Given the description of an element on the screen output the (x, y) to click on. 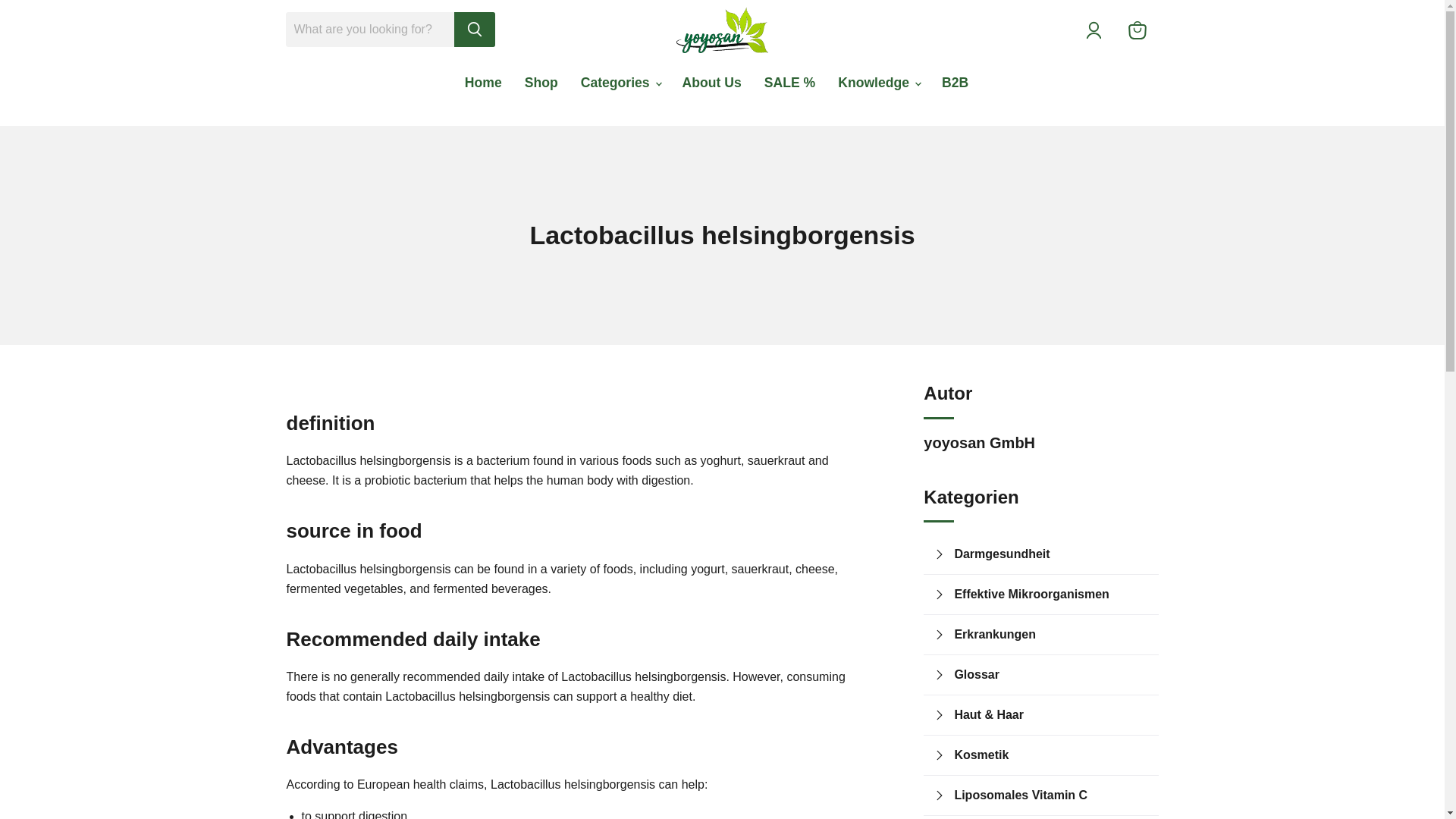
Show articles tagged Kosmetik (1050, 754)
Shop (541, 82)
Show articles tagged darmgesundheit (1050, 554)
About Us (711, 82)
Show articles tagged glossar (1050, 674)
Show articles tagged Liposomales Vitamin C (1050, 794)
Show articles tagged Erkrankungen (1050, 634)
View cart (1137, 29)
B2B (954, 82)
Home (482, 82)
